Given the description of an element on the screen output the (x, y) to click on. 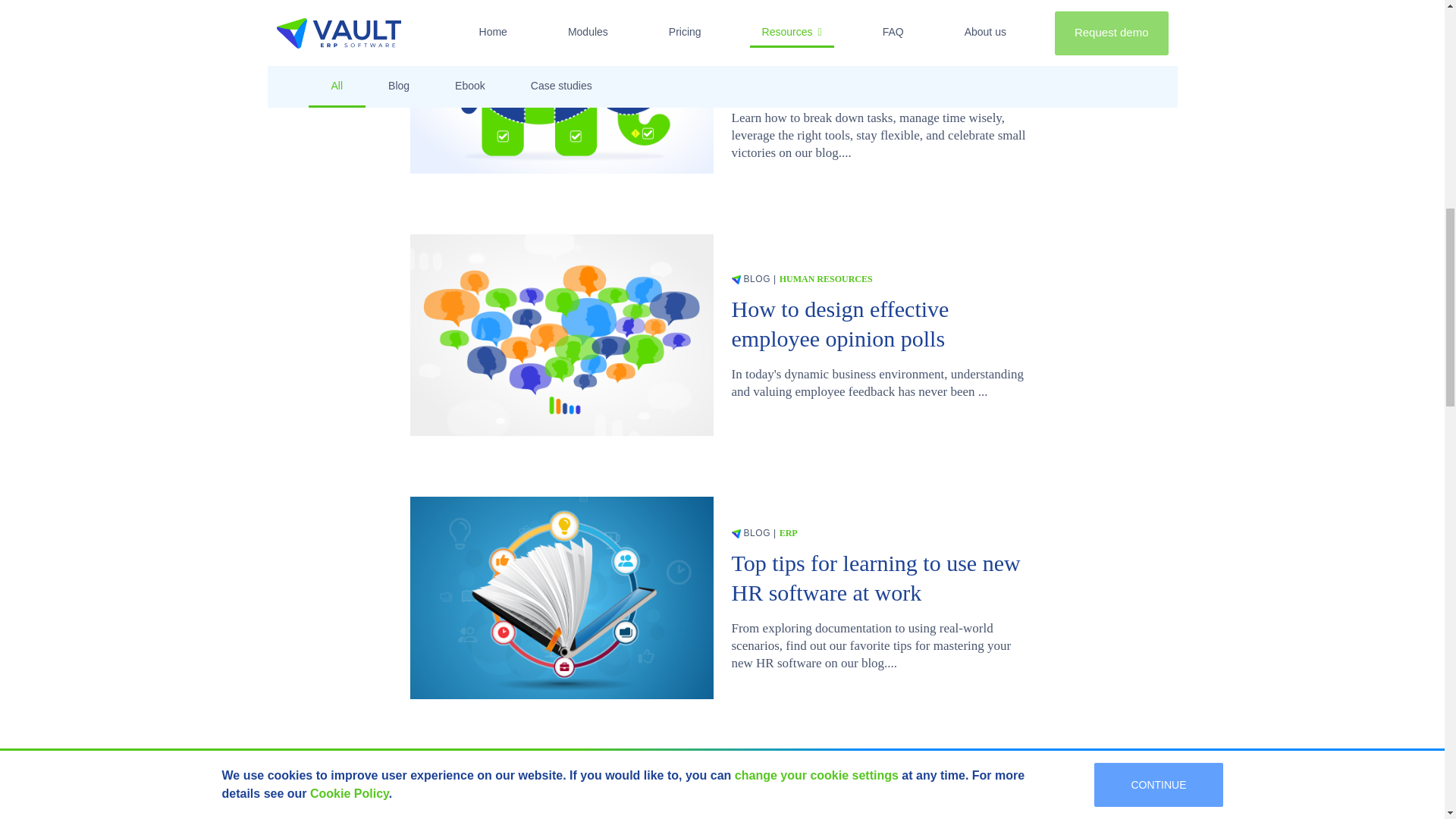
Top tips for learning to use new HR software at work (881, 577)
HUMAN RESOURCES (825, 278)
ERP (787, 532)
How to design effective employee opinion polls (881, 323)
ERP (787, 780)
